Given the description of an element on the screen output the (x, y) to click on. 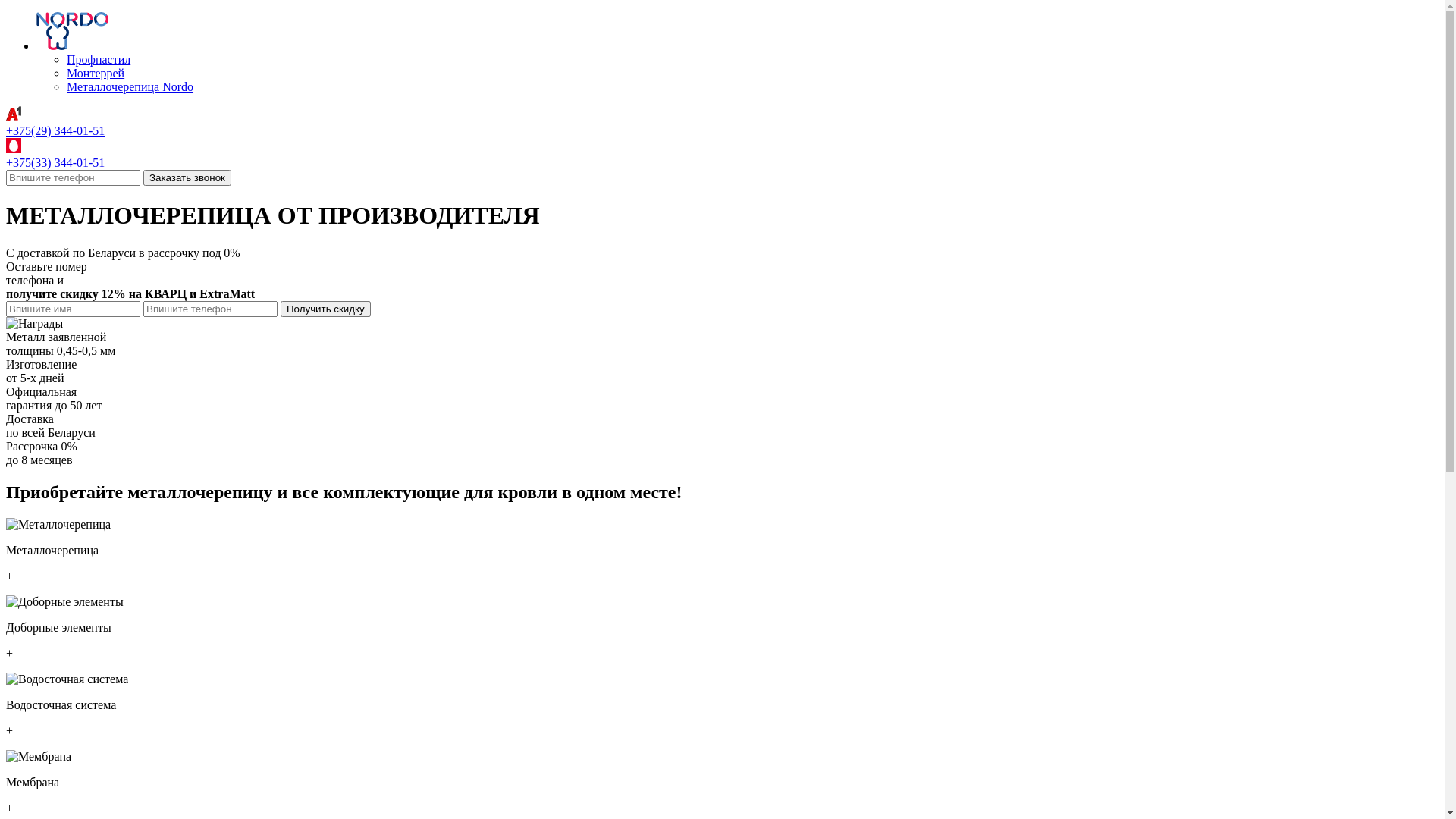
+375(29) 344-01-51 Element type: text (55, 130)
+375(33) 344-01-51 Element type: text (55, 162)
